Given the description of an element on the screen output the (x, y) to click on. 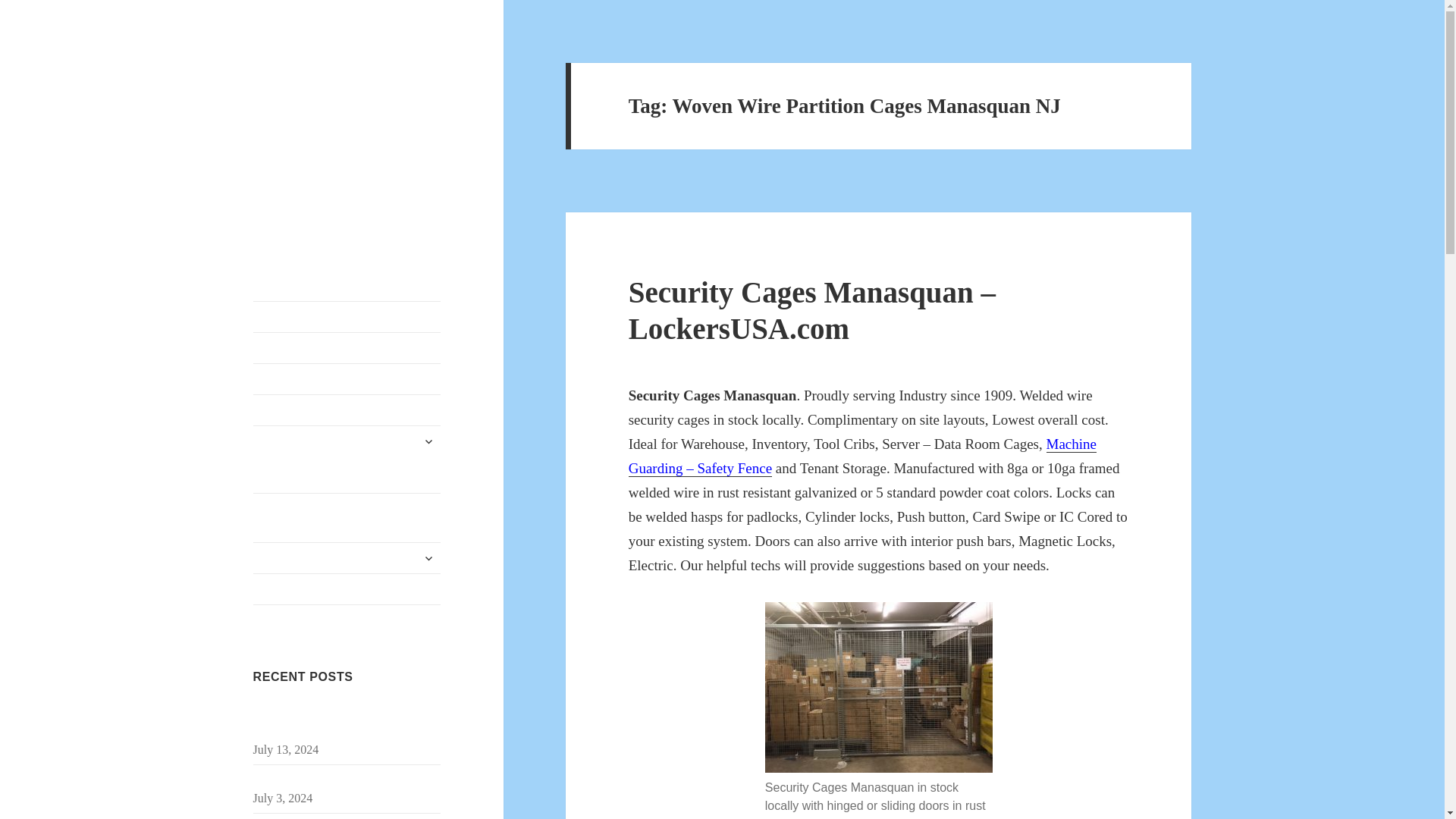
Security Storage Cage Monmouth County (336, 721)
Tenant Storage Cages Elizabeth NJ (338, 779)
Tenant Storage Cages NYC (347, 317)
LockersUSA (314, 74)
expand child menu (428, 441)
Lockers NJ (347, 589)
Machine Guarding Cages (347, 557)
expand child menu (428, 558)
DEA Cannabis Storage Cages NJ (347, 378)
Machine Guarding Cages (347, 557)
